Given the description of an element on the screen output the (x, y) to click on. 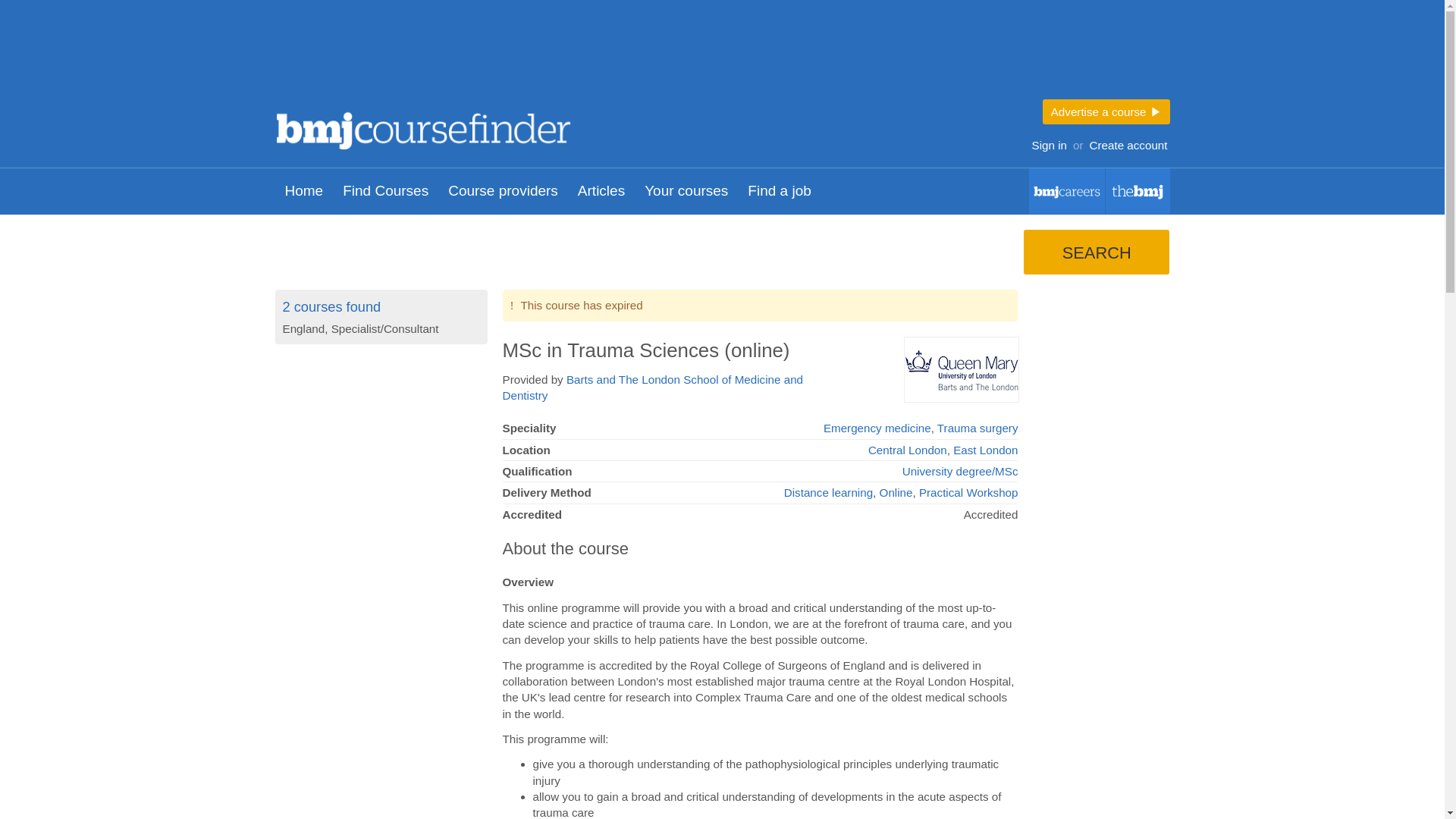
Your courses (686, 191)
Emergency medicine (877, 427)
SEARCH (1096, 252)
Sign in (1048, 145)
Create account (1128, 145)
Advertise a course (1106, 111)
Find a job (779, 191)
Practical Workshop (967, 492)
Editorial (1137, 190)
Central London (907, 449)
2 courses found (331, 306)
Online (895, 492)
Articles (600, 191)
Find Courses (385, 191)
Distance learning (828, 492)
